Given the description of an element on the screen output the (x, y) to click on. 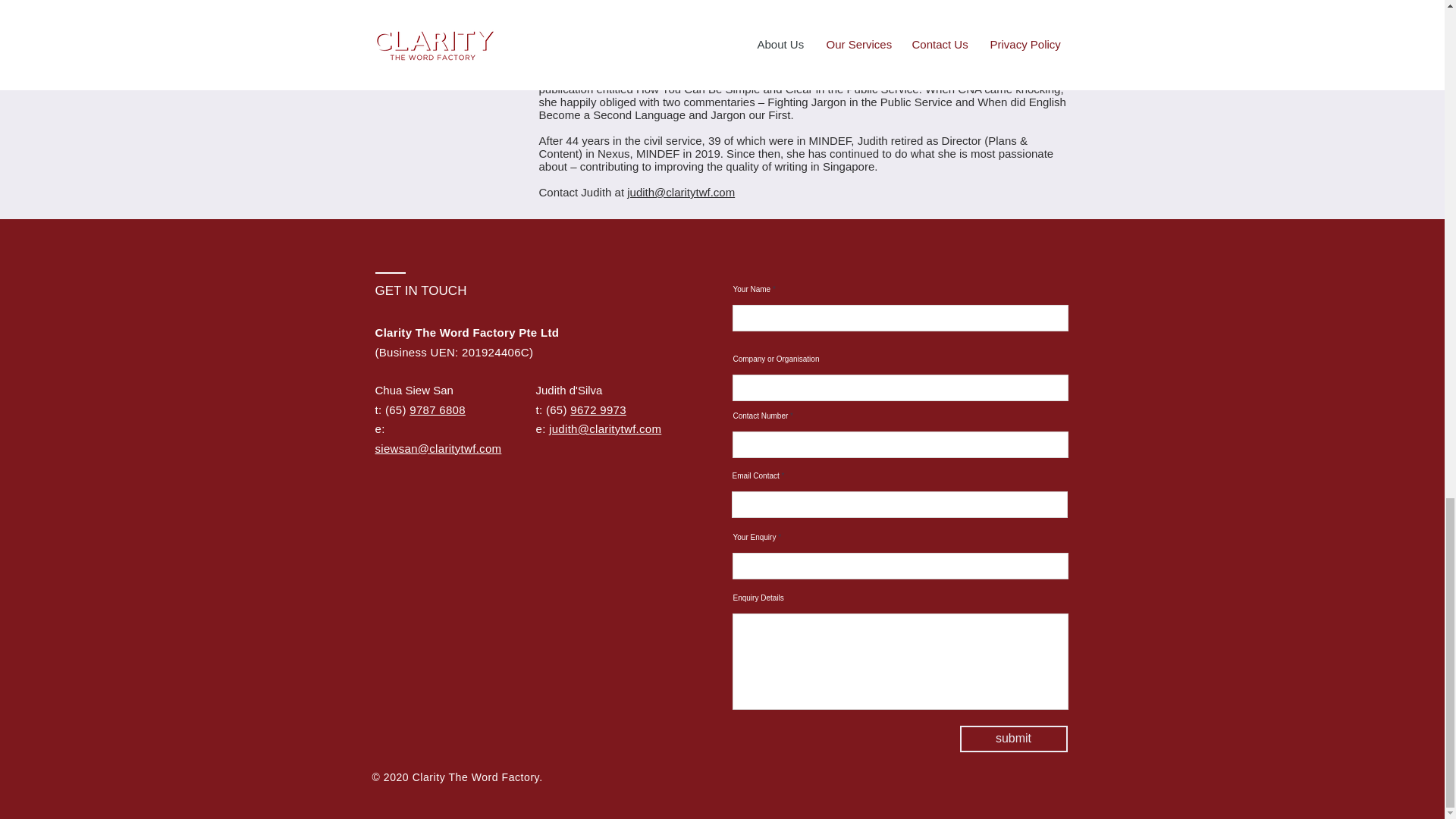
9787 6808 (437, 409)
submit (1013, 738)
9672 9973 (598, 409)
